Given the description of an element on the screen output the (x, y) to click on. 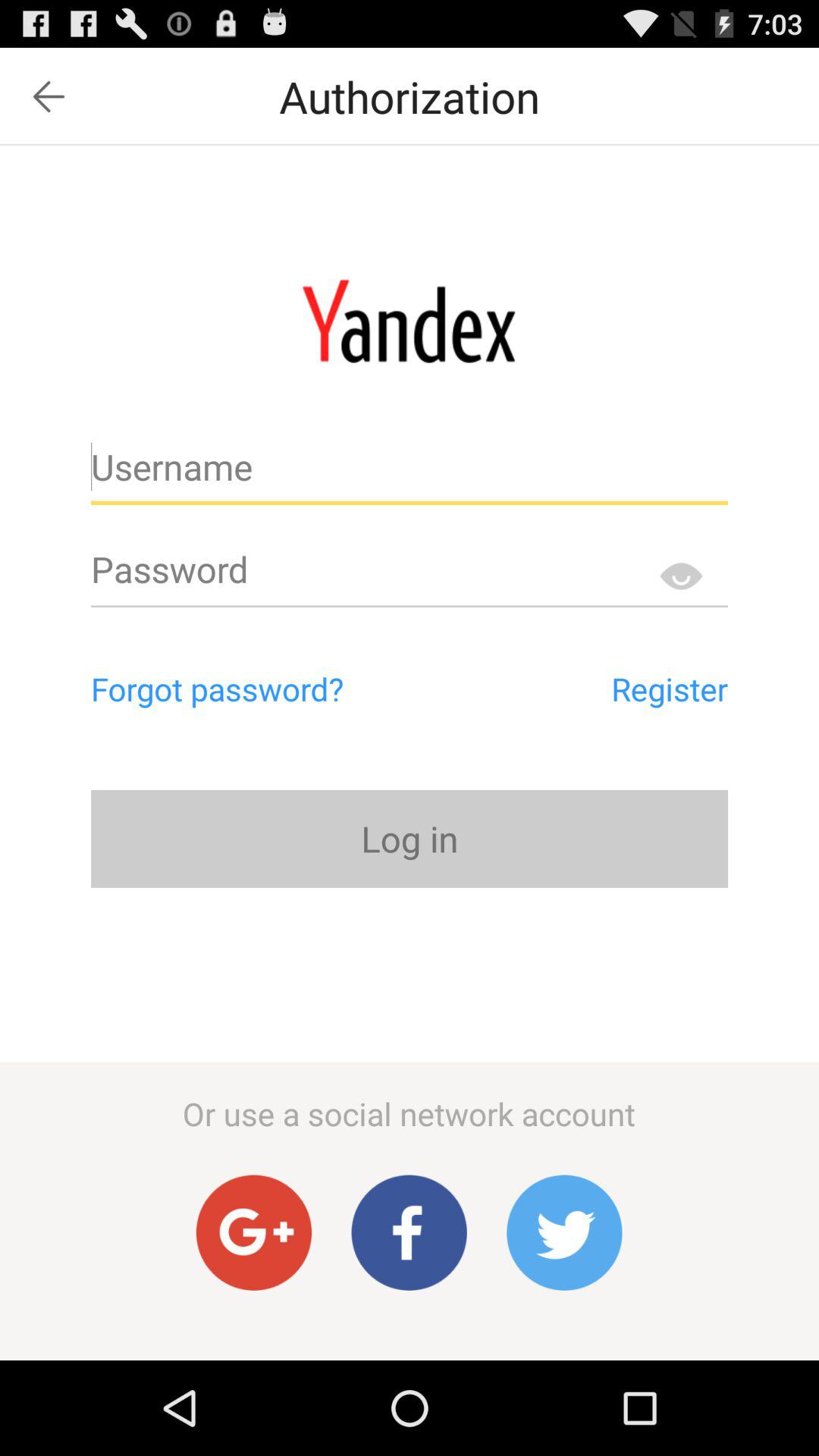
show password (680, 575)
